Given the description of an element on the screen output the (x, y) to click on. 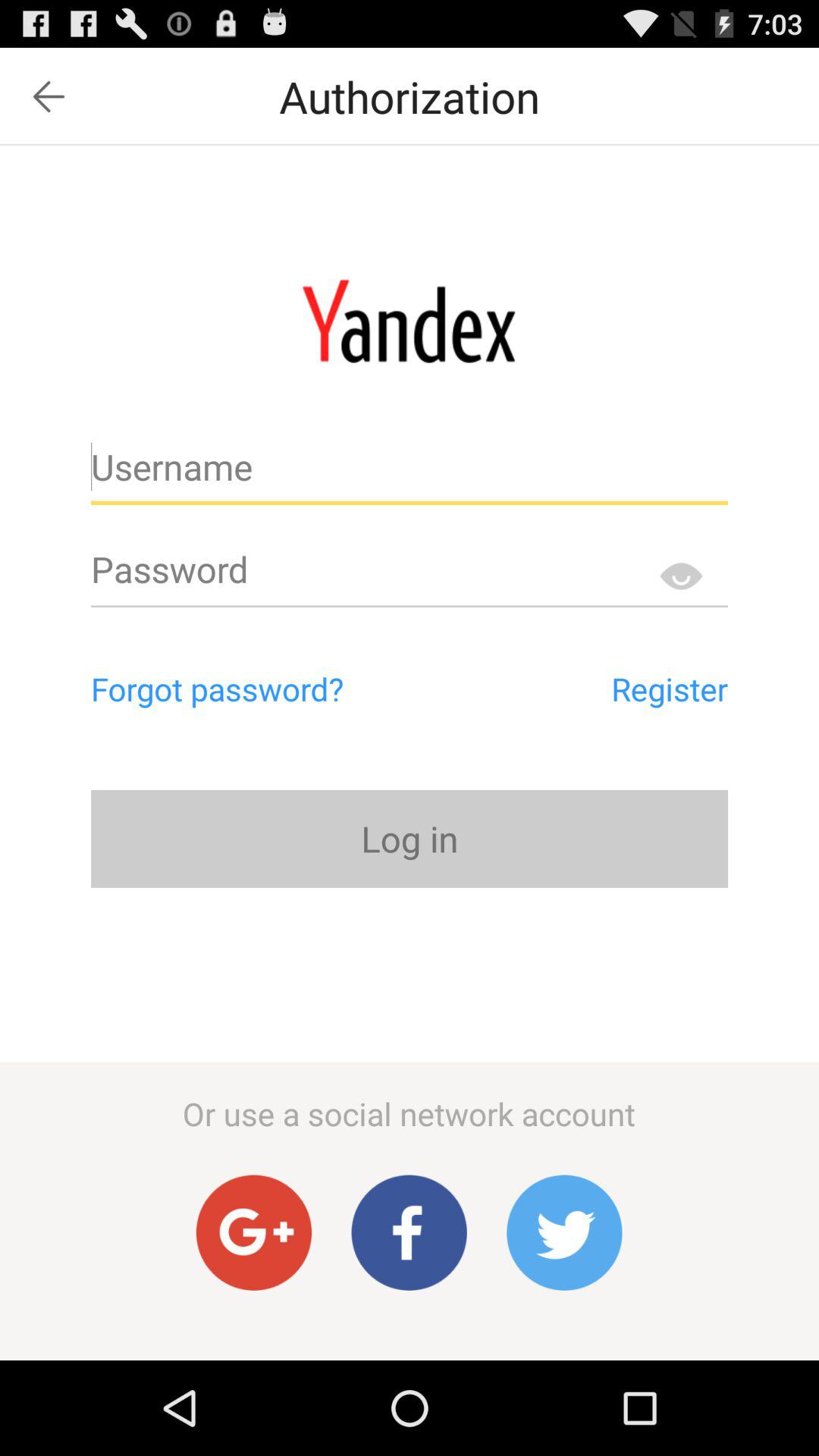
show password (680, 575)
